Given the description of an element on the screen output the (x, y) to click on. 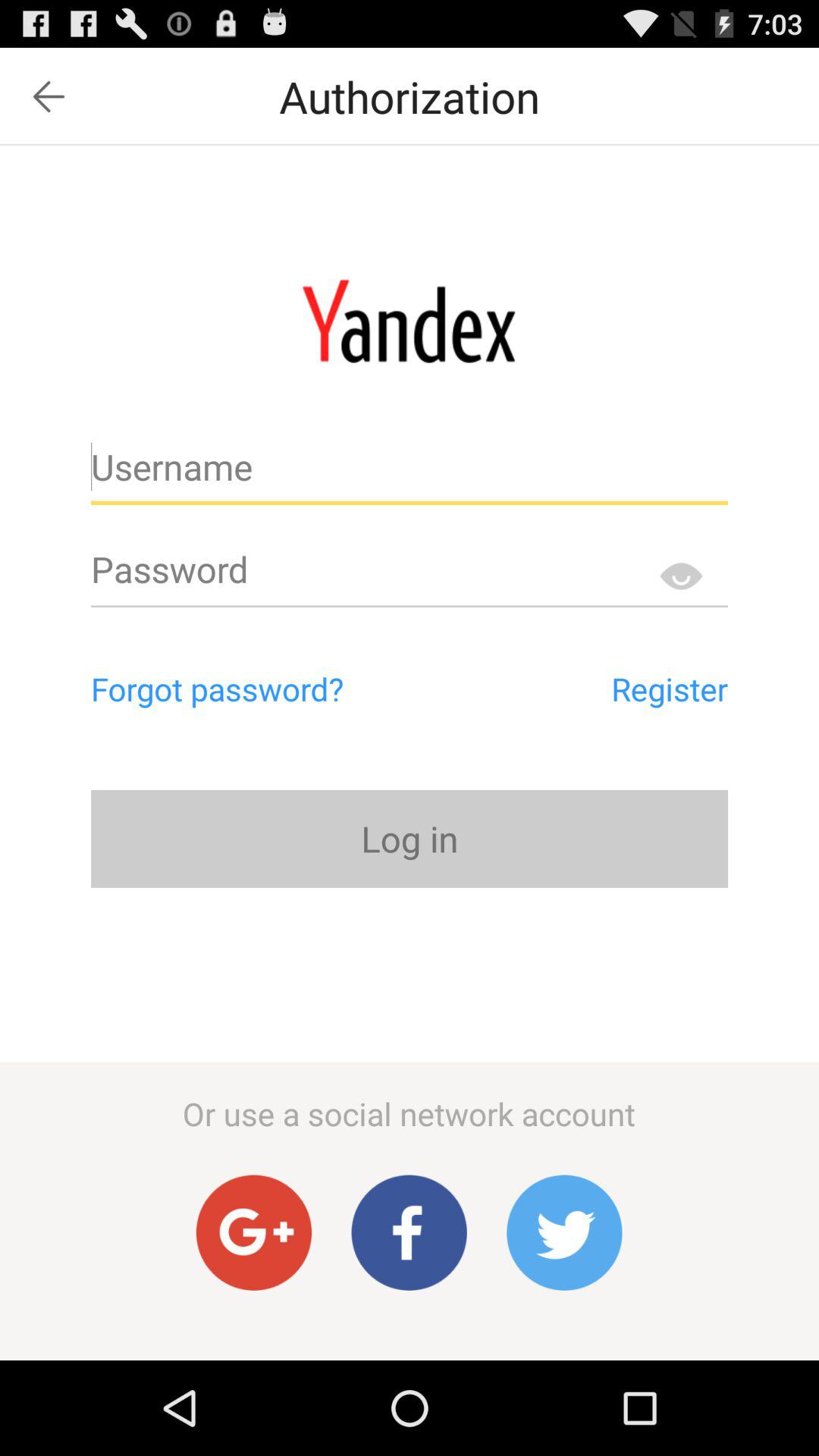
show password (680, 575)
